Given the description of an element on the screen output the (x, y) to click on. 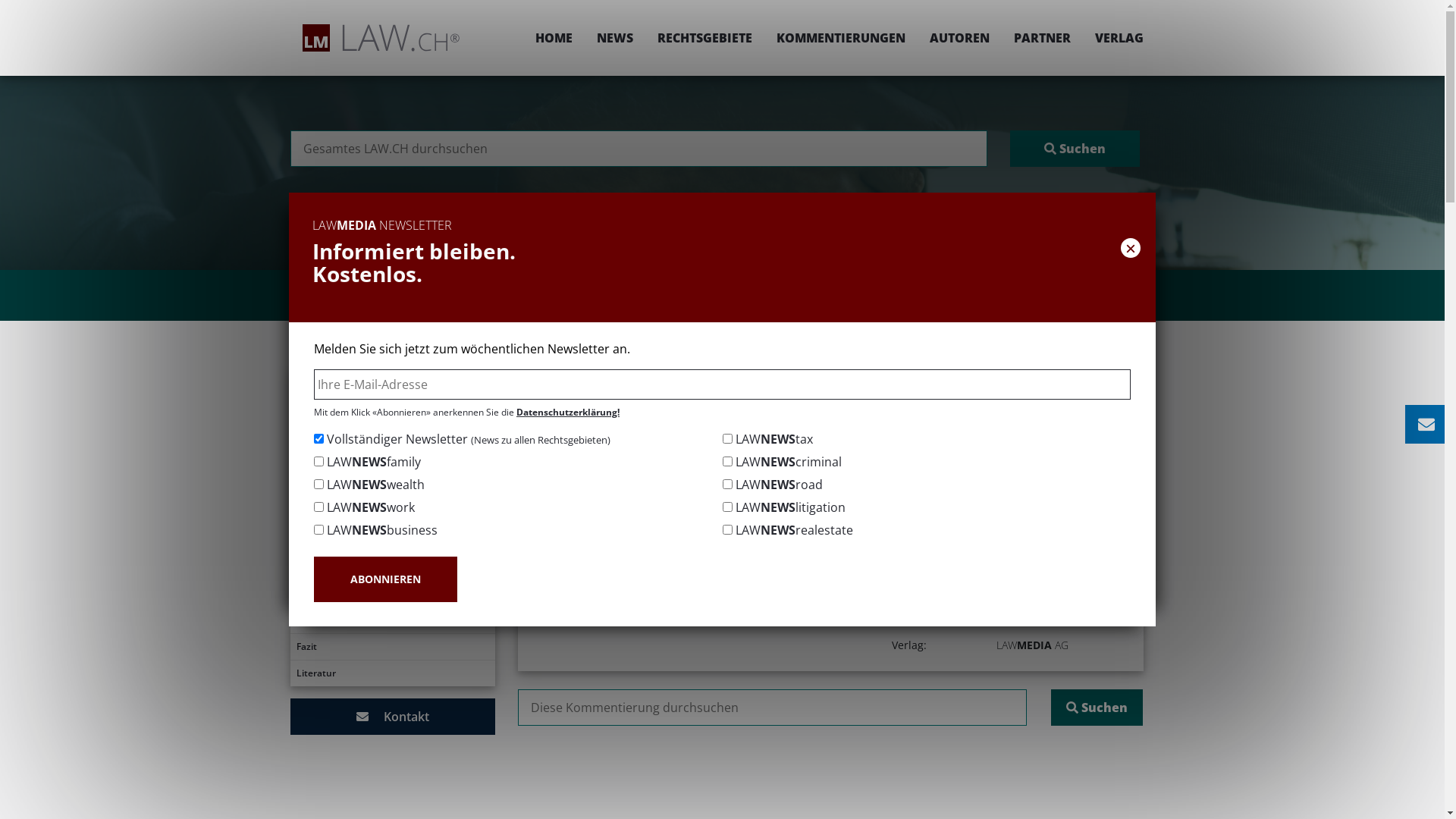
Funktion Element type: text (391, 540)
 TEILEN Element type: text (989, 426)
HOME Element type: text (553, 37)
Vertragsparteien Element type: text (391, 487)
AUTOREN Element type: text (959, 37)
KOMMENTIERUNGEN Element type: text (840, 37)
Rechtsgebiete Element type: text (697, 375)
    Kontakt Element type: text (391, 716)
Fazit Element type: text (391, 646)
Rechtsnatur Element type: text (391, 460)
Home Element type: text (628, 375)
Literatur Element type: text (391, 673)
Suchen nach: Element type: hover (771, 707)
VERLAG Element type: text (1112, 37)
Suchen nach: Element type: hover (637, 148)
ABONNIEREN Element type: text (385, 579)
 DRUCKEN / PDF Element type: text (1095, 426)
NEWS Element type: text (613, 37)
Form Element type: text (391, 514)
PARTNER Element type: text (1041, 37)
RECHTSGEBIETE Element type: text (703, 37)
Inhaltsverzeichnis Element type: text (391, 407)
